Given the description of an element on the screen output the (x, y) to click on. 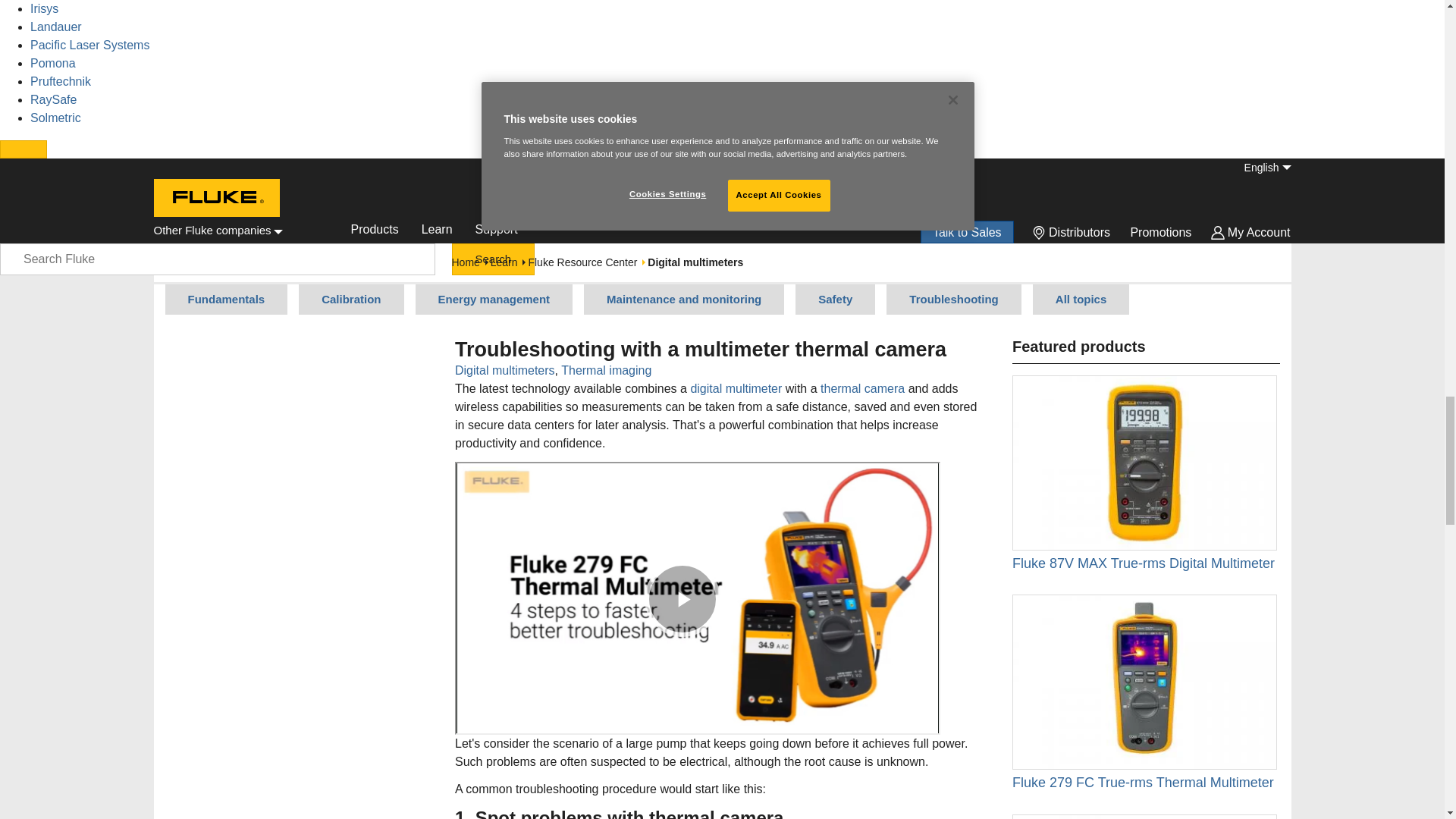
Fluke 279 FC (1143, 681)
Home (213, 230)
Fluke 87V MAX True-rms Digital Multimeter (1143, 462)
Pocket Thermal Imager back view with thermal image displayed (1143, 816)
Search (493, 259)
Home (215, 200)
